Given the description of an element on the screen output the (x, y) to click on. 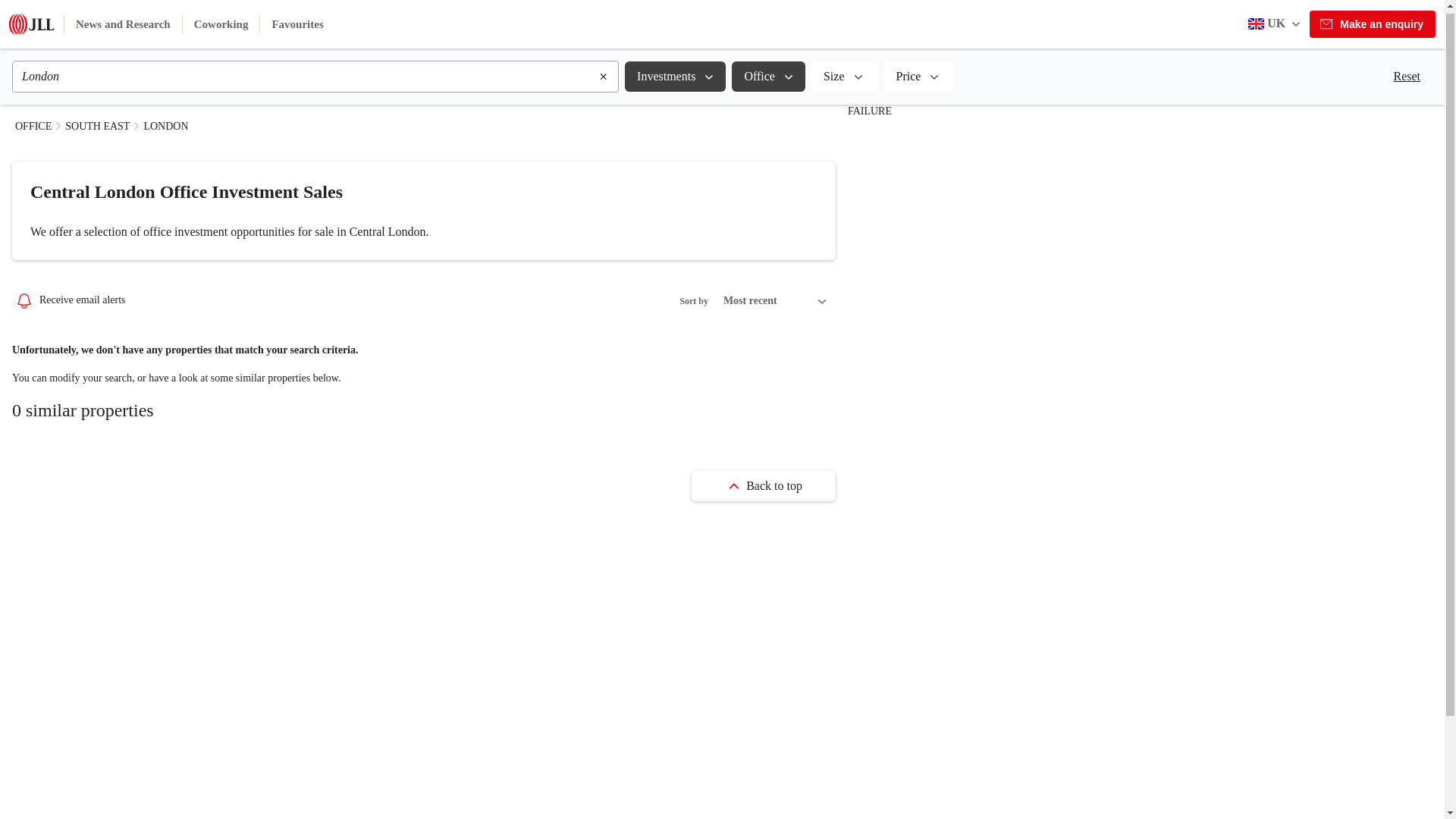
Make an enquiry (1371, 21)
Office (768, 73)
Favourites (296, 21)
Size (843, 73)
Most recent (774, 300)
investments (674, 73)
London (304, 73)
UK (1275, 20)
LONDON (164, 125)
News and Research (122, 21)
Receive email alerts (70, 300)
SOUTH EAST (97, 125)
Back to top (763, 485)
Reset (1406, 73)
OFFICE (32, 125)
